Given the description of an element on the screen output the (x, y) to click on. 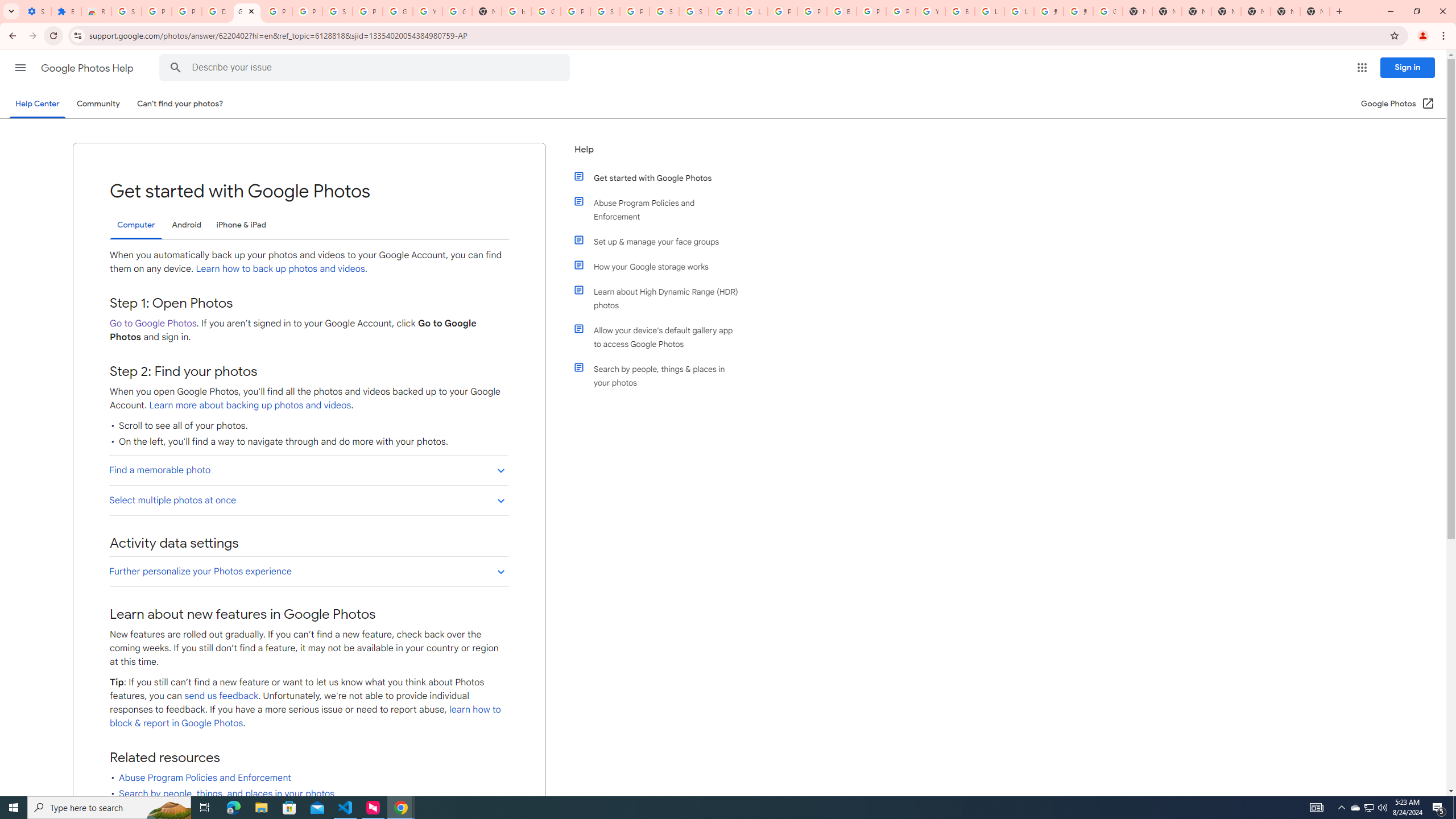
Can't find your photos? (180, 103)
https://scholar.google.com/ (515, 11)
Further personalize your Photos experience (308, 571)
Google Images (1107, 11)
